Given the description of an element on the screen output the (x, y) to click on. 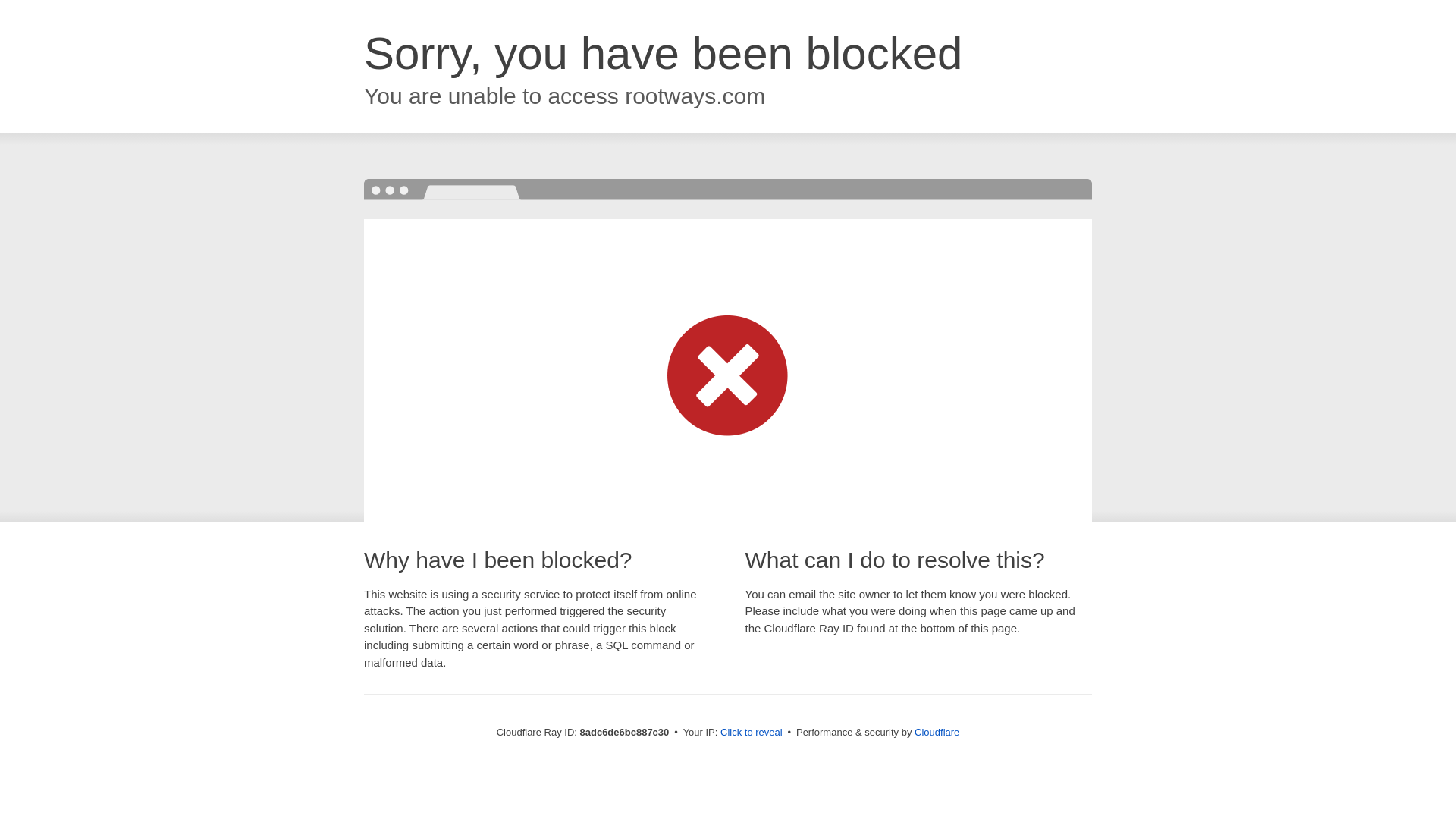
Click to reveal (751, 732)
Cloudflare (936, 731)
